Given the description of an element on the screen output the (x, y) to click on. 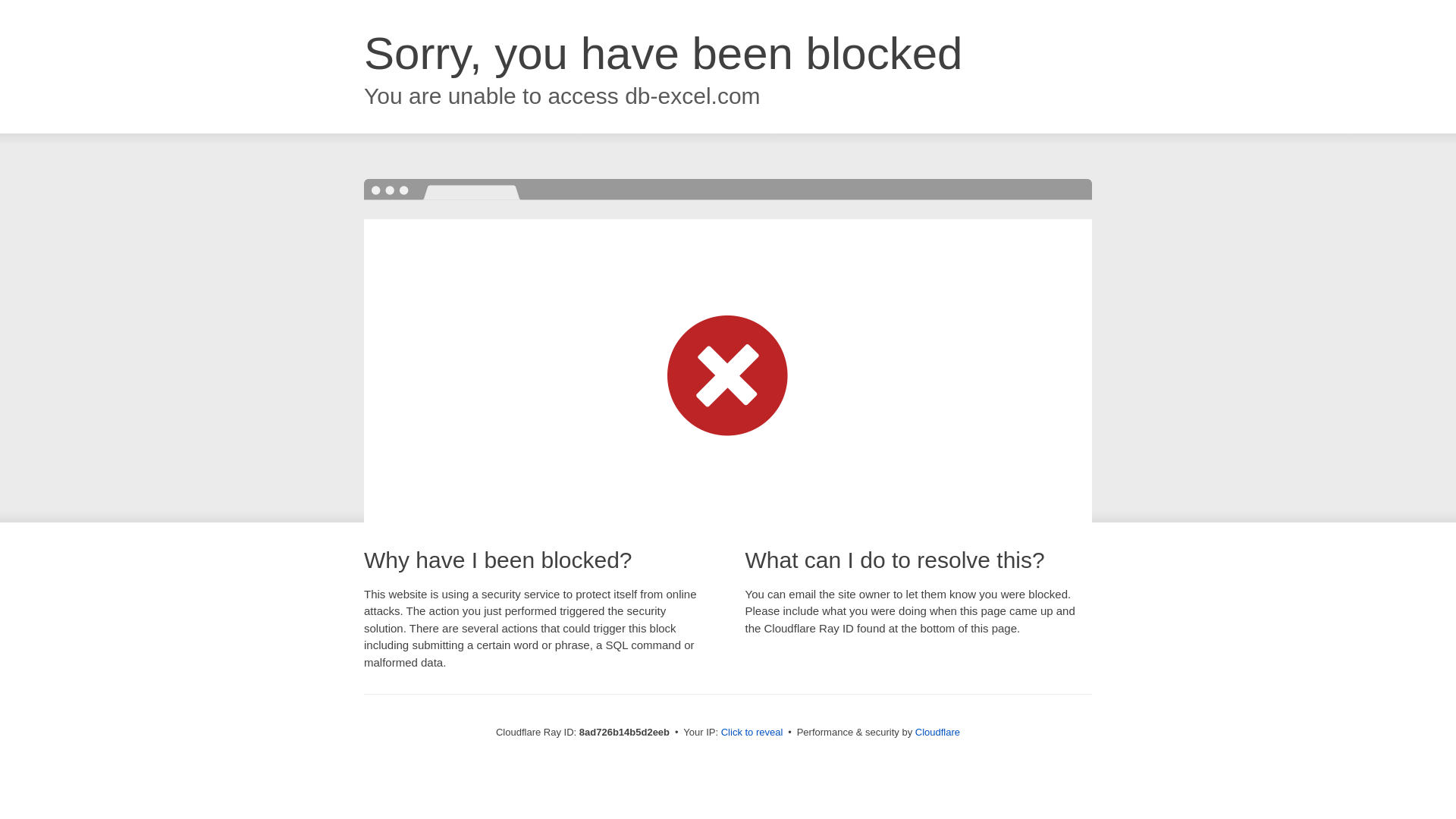
Cloudflare (937, 731)
Click to reveal (751, 732)
